Given the description of an element on the screen output the (x, y) to click on. 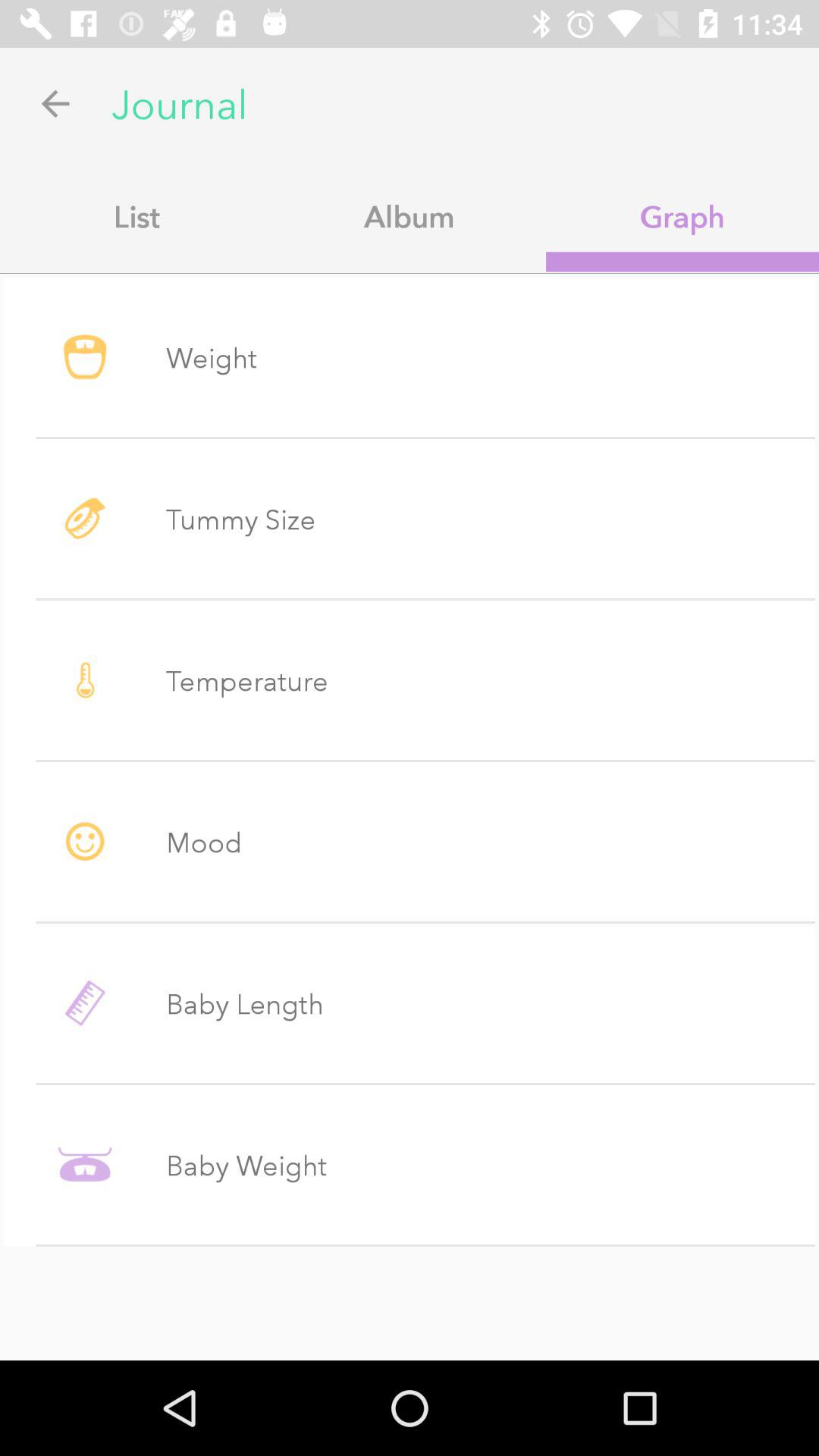
launch graph app (682, 216)
